Given the description of an element on the screen output the (x, y) to click on. 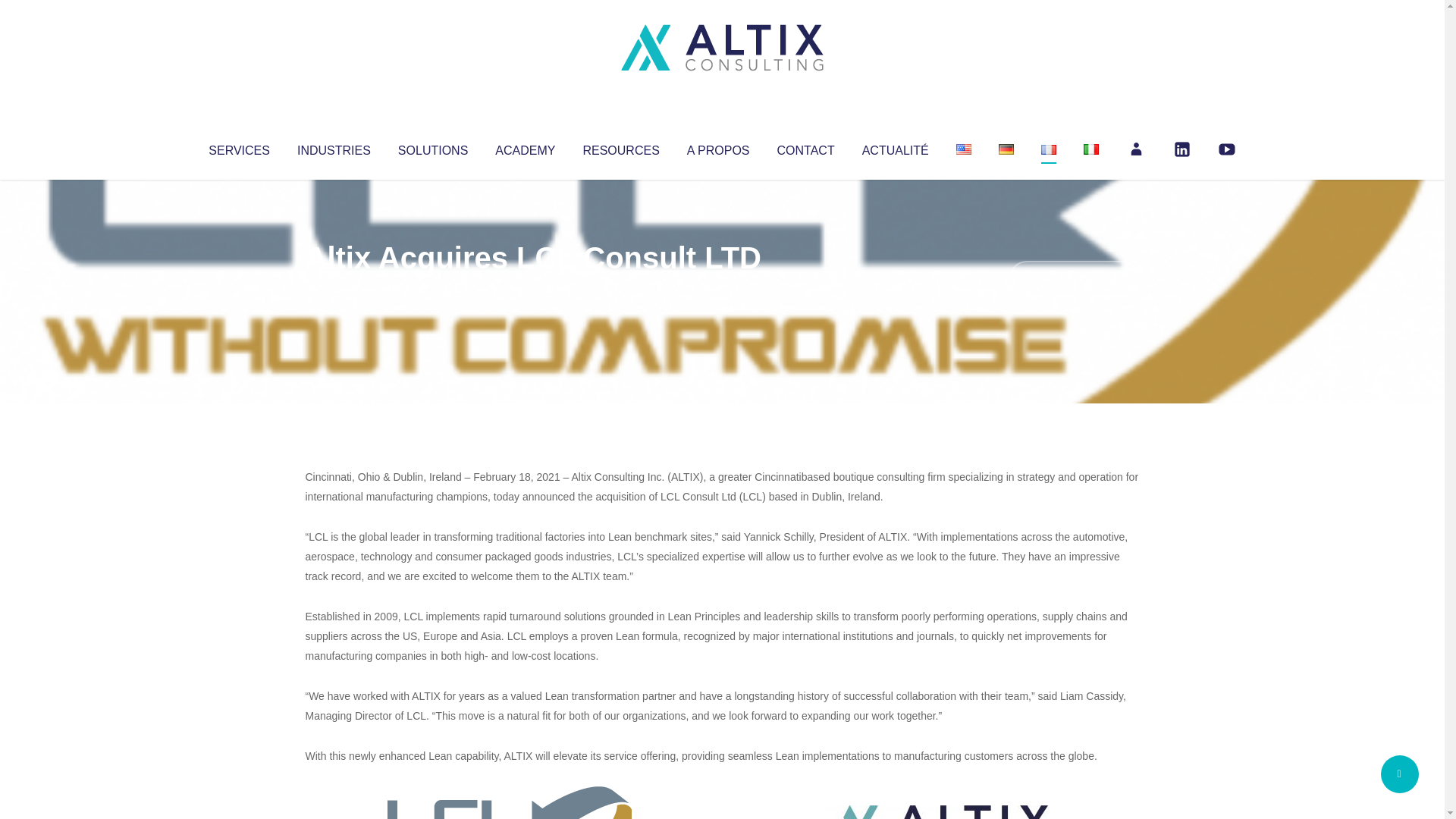
ACADEMY (524, 146)
INDUSTRIES (334, 146)
A PROPOS (718, 146)
SERVICES (238, 146)
Articles par Altix (333, 287)
SOLUTIONS (432, 146)
RESOURCES (620, 146)
Uncategorized (530, 287)
No Comments (1073, 278)
Altix (333, 287)
